Given the description of an element on the screen output the (x, y) to click on. 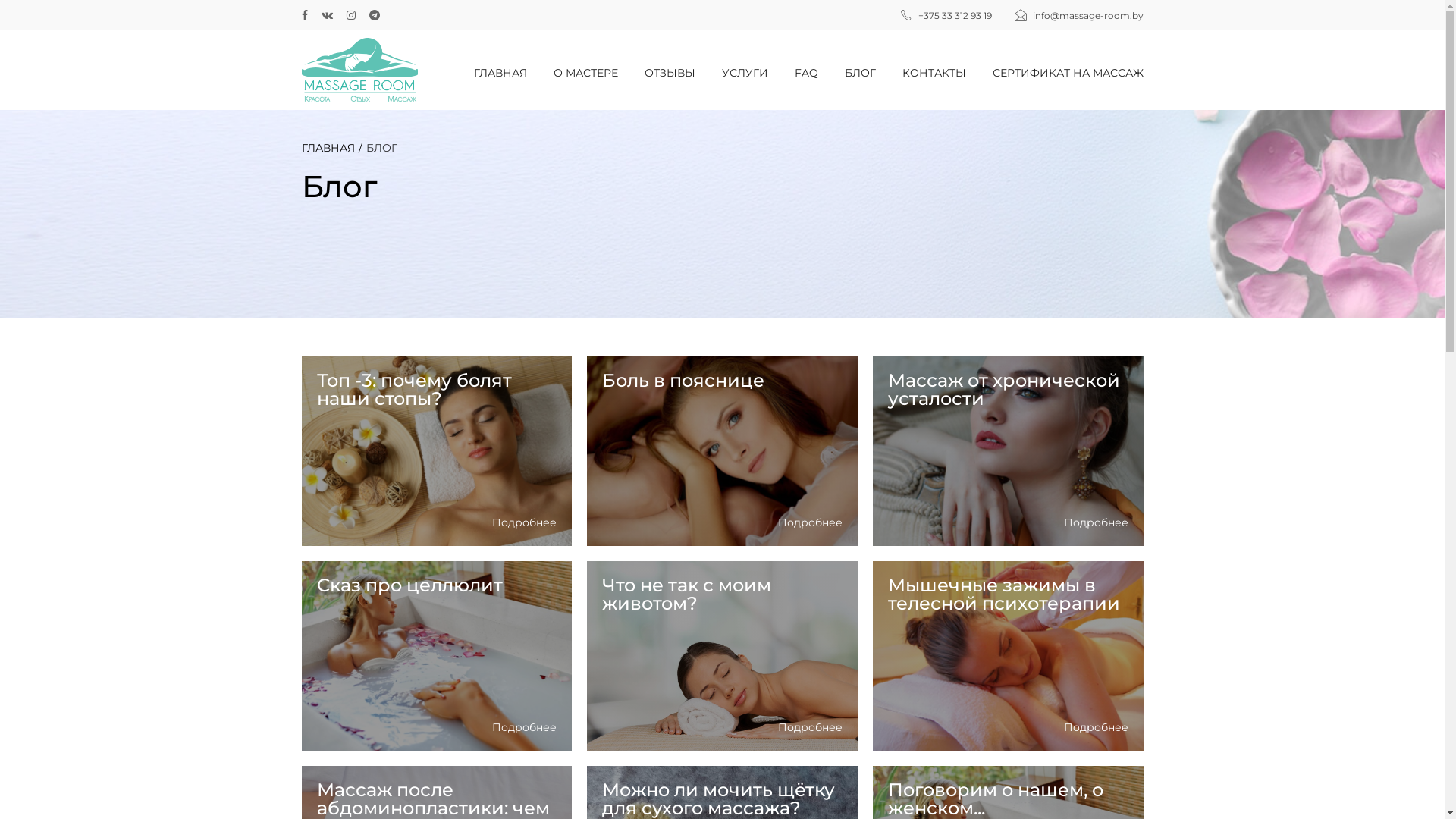
+375 33 312 93 19 Element type: text (954, 15)
info@massage-room.by Element type: text (1087, 15)
FAQ Element type: text (819, 72)
